Given the description of an element on the screen output the (x, y) to click on. 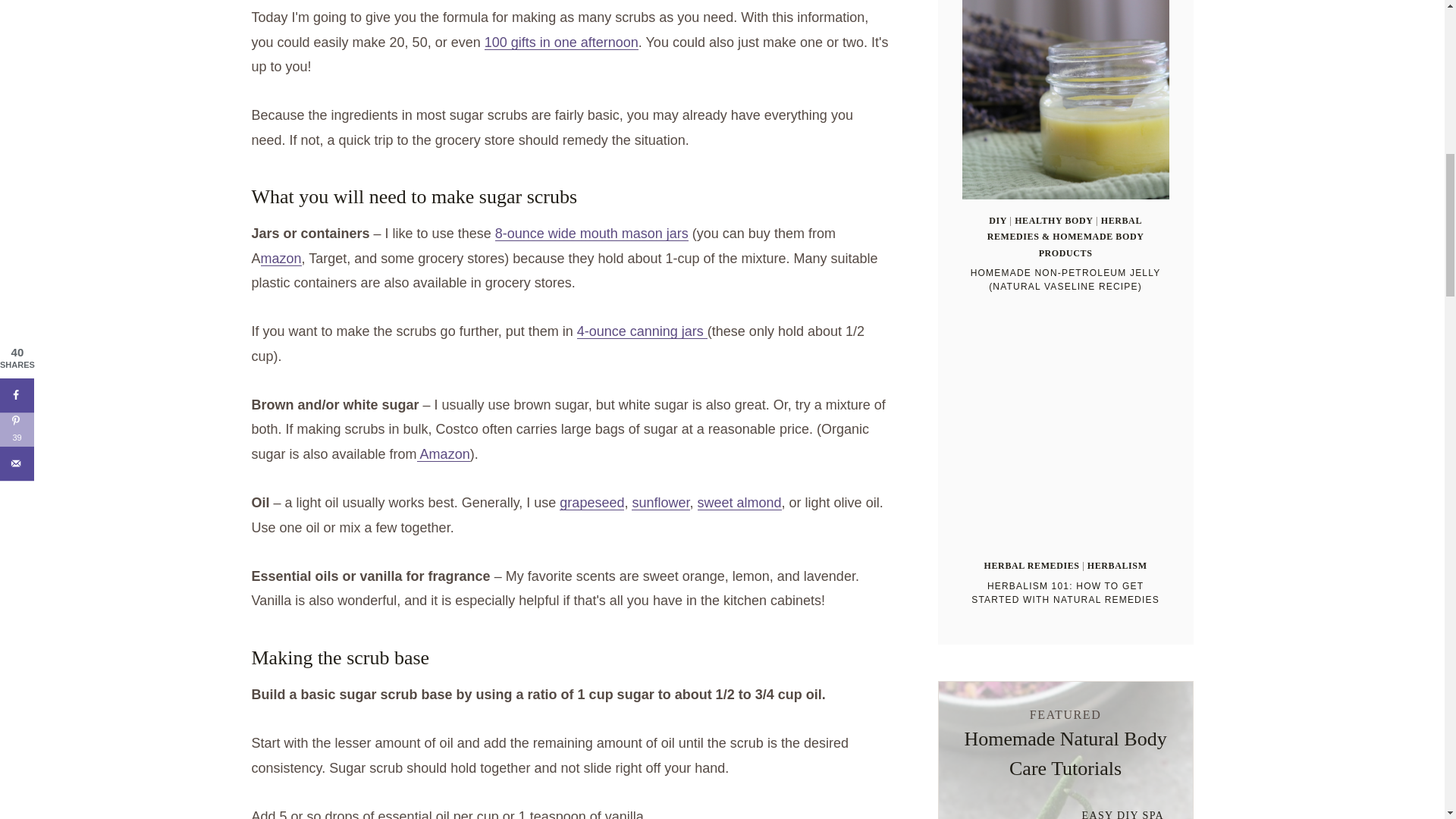
sunflower (659, 502)
100 gifts in one afternoon (561, 42)
grapeseed (591, 502)
mazon (280, 258)
4-ounce canning jars (641, 331)
8-ounce wide mouth mason jars (591, 233)
Amazon (443, 453)
sweet almond (739, 502)
